Given the description of an element on the screen output the (x, y) to click on. 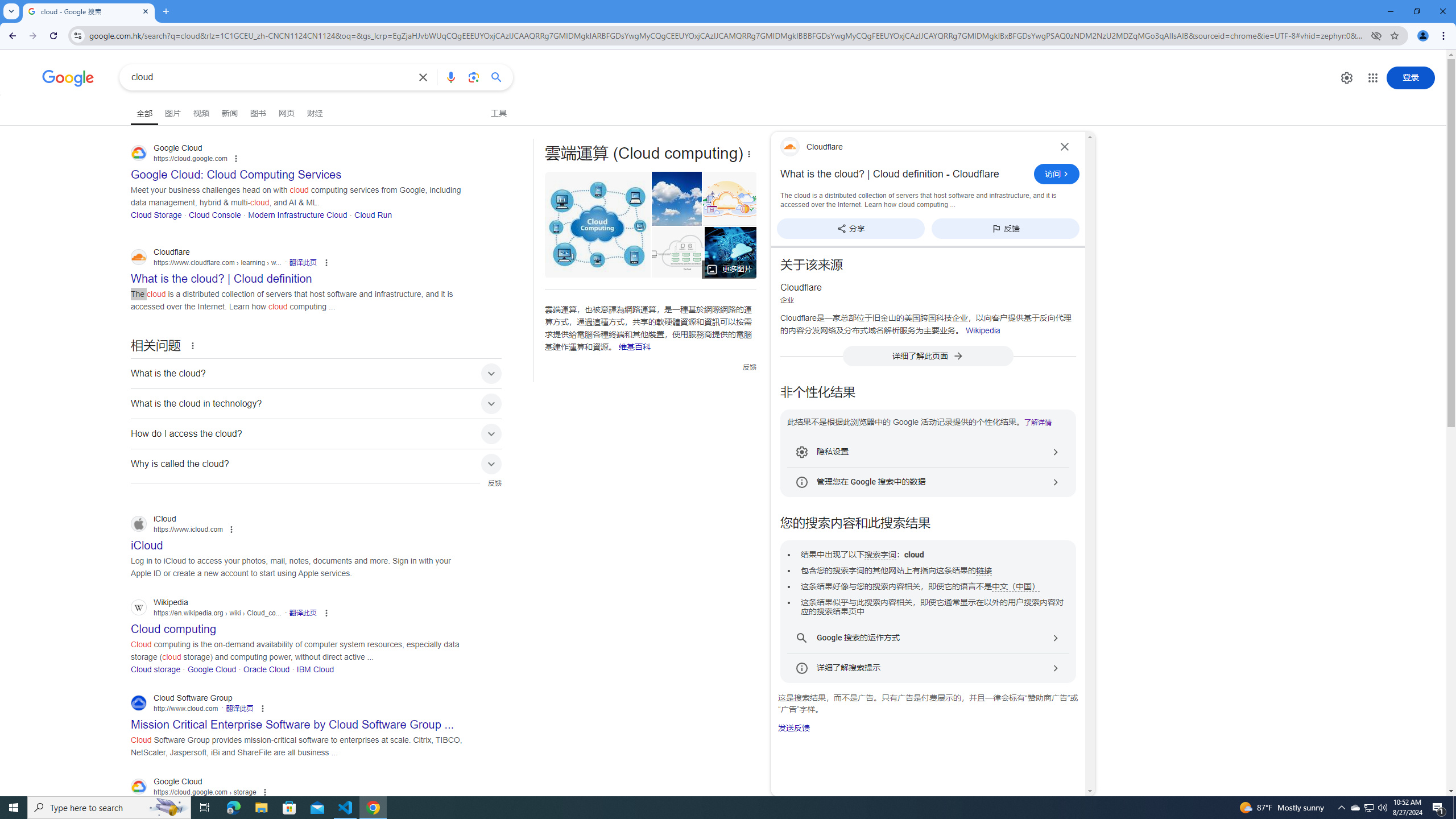
IBM Cloud (315, 669)
Cloudflare (913, 146)
Why is called the cloud? (316, 463)
Cloud Run (373, 214)
Wikipedia (982, 330)
Google Cloud (211, 669)
